Given the description of an element on the screen output the (x, y) to click on. 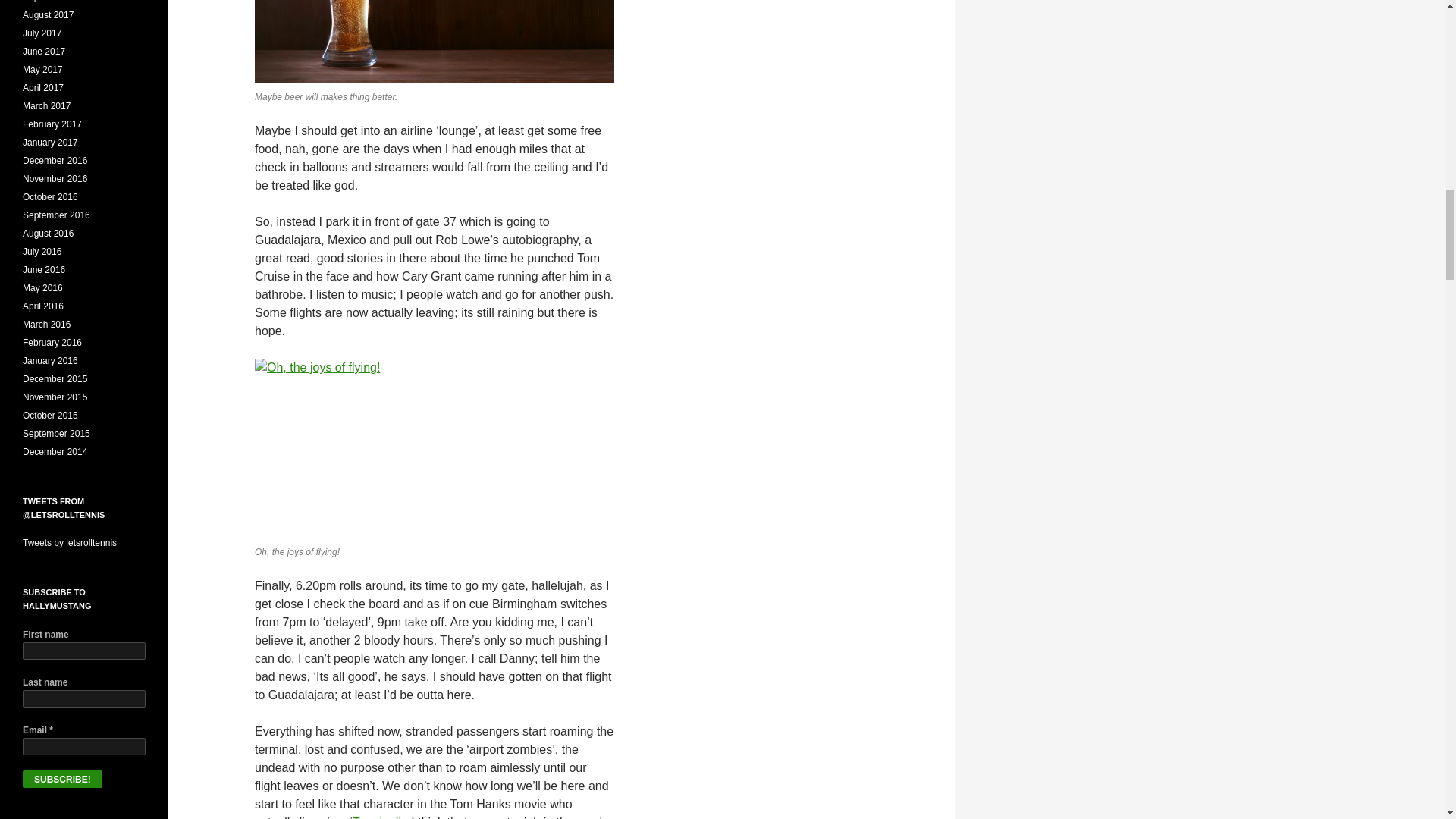
Email (84, 746)
Subscribe! (62, 778)
Last name (84, 698)
First name (84, 651)
